Given the description of an element on the screen output the (x, y) to click on. 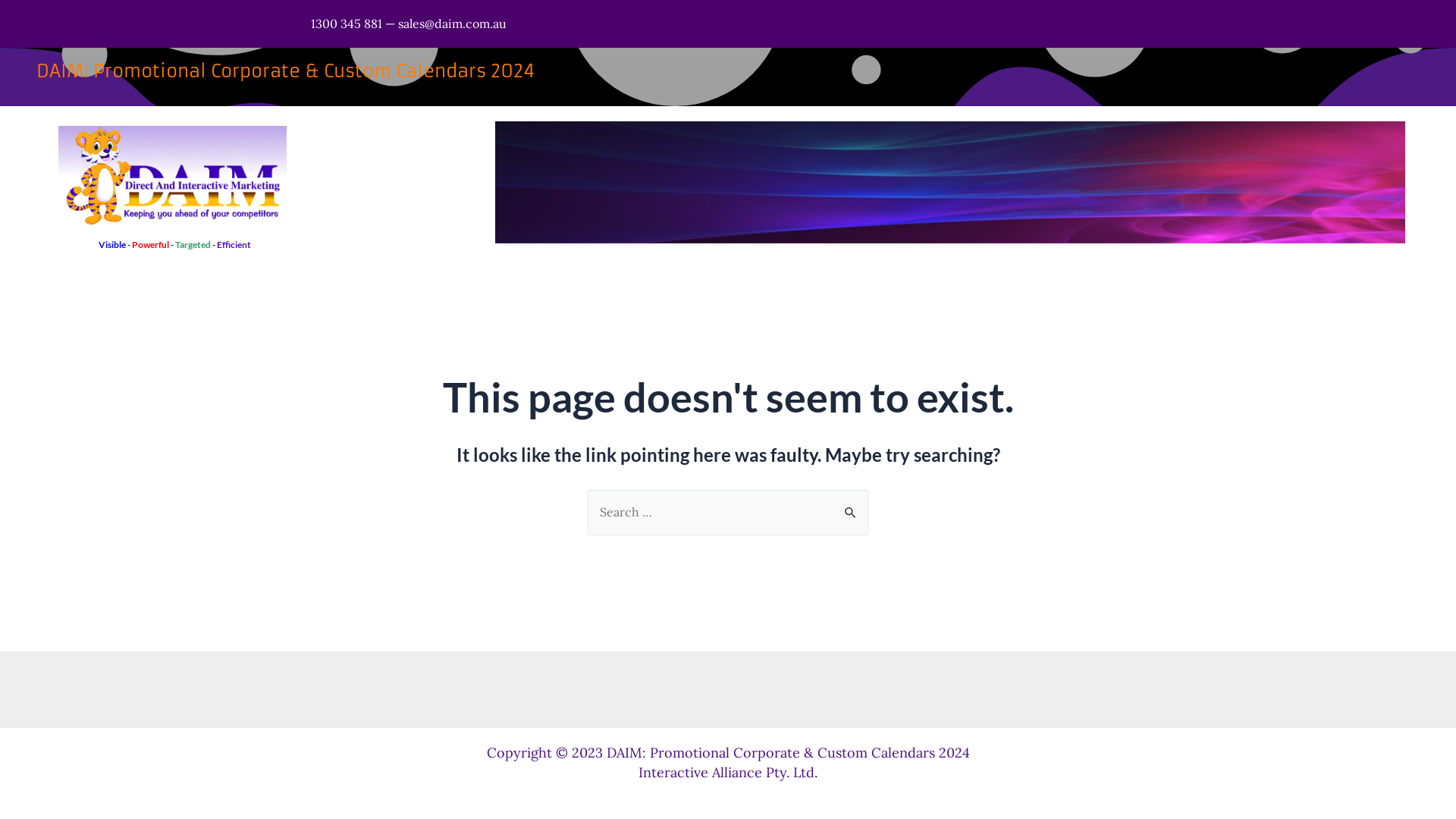
DAIM: Promotional Corporate & Custom Calendars 2024 Element type: text (285, 70)
Search Element type: text (851, 505)
blue abstract fractal background 3d rendering Element type: hover (950, 182)
